Given the description of an element on the screen output the (x, y) to click on. 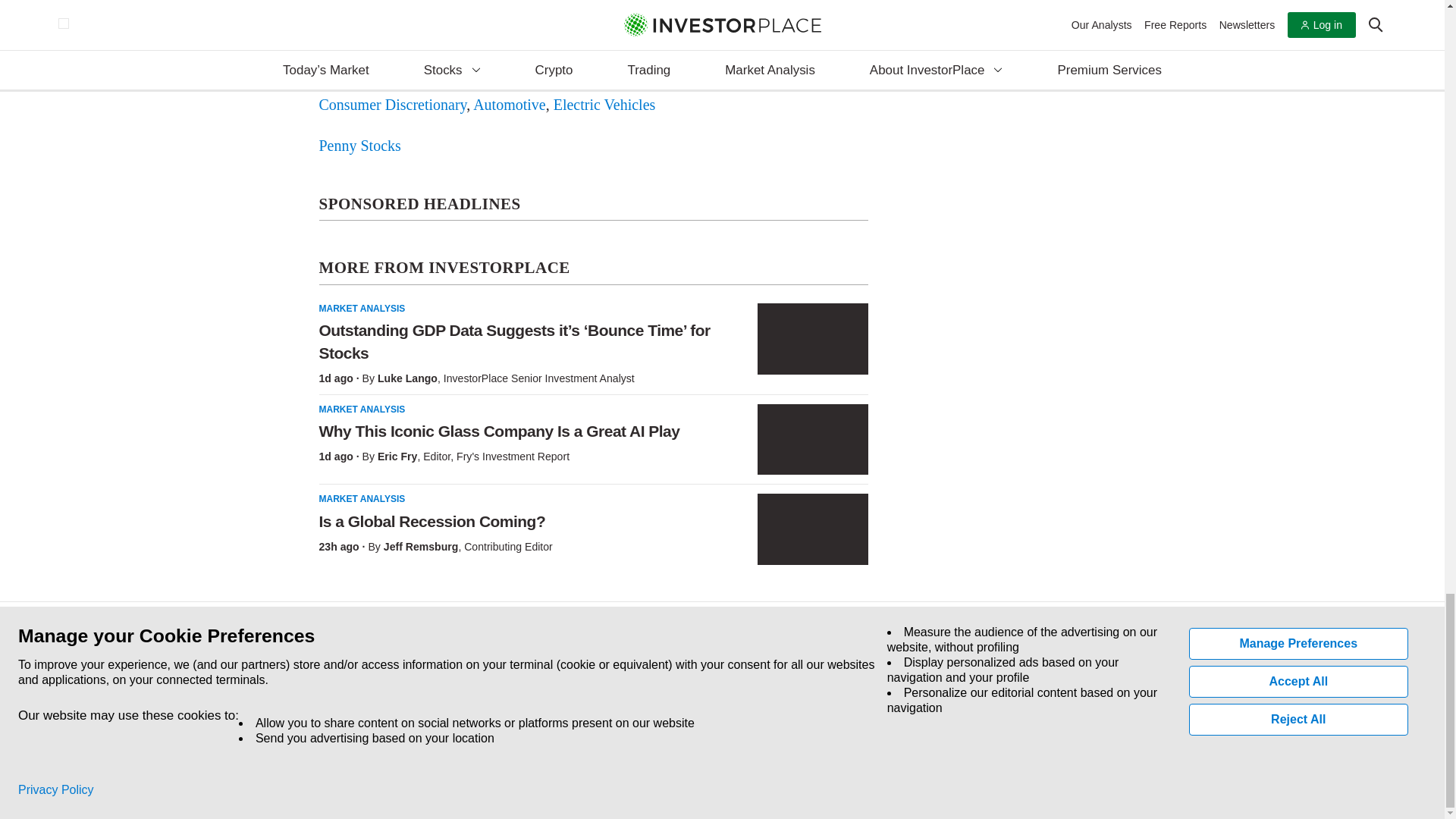
View profile of Jeff Remsburg (421, 546)
Articles from Consumer Discretionary industry (391, 104)
View profile of Luke Lango (407, 378)
Articles from Automotive industry (509, 104)
Is a Global Recession Coming? (812, 529)
Articles from Electric Vehicles industry (604, 104)
Why This Iconic Glass Company Is a Great AI Play (812, 439)
Articles from Penny Stocks stock type (359, 145)
View profile of Eric Fry (396, 456)
Visit our Facebook Page (319, 711)
